Given the description of an element on the screen output the (x, y) to click on. 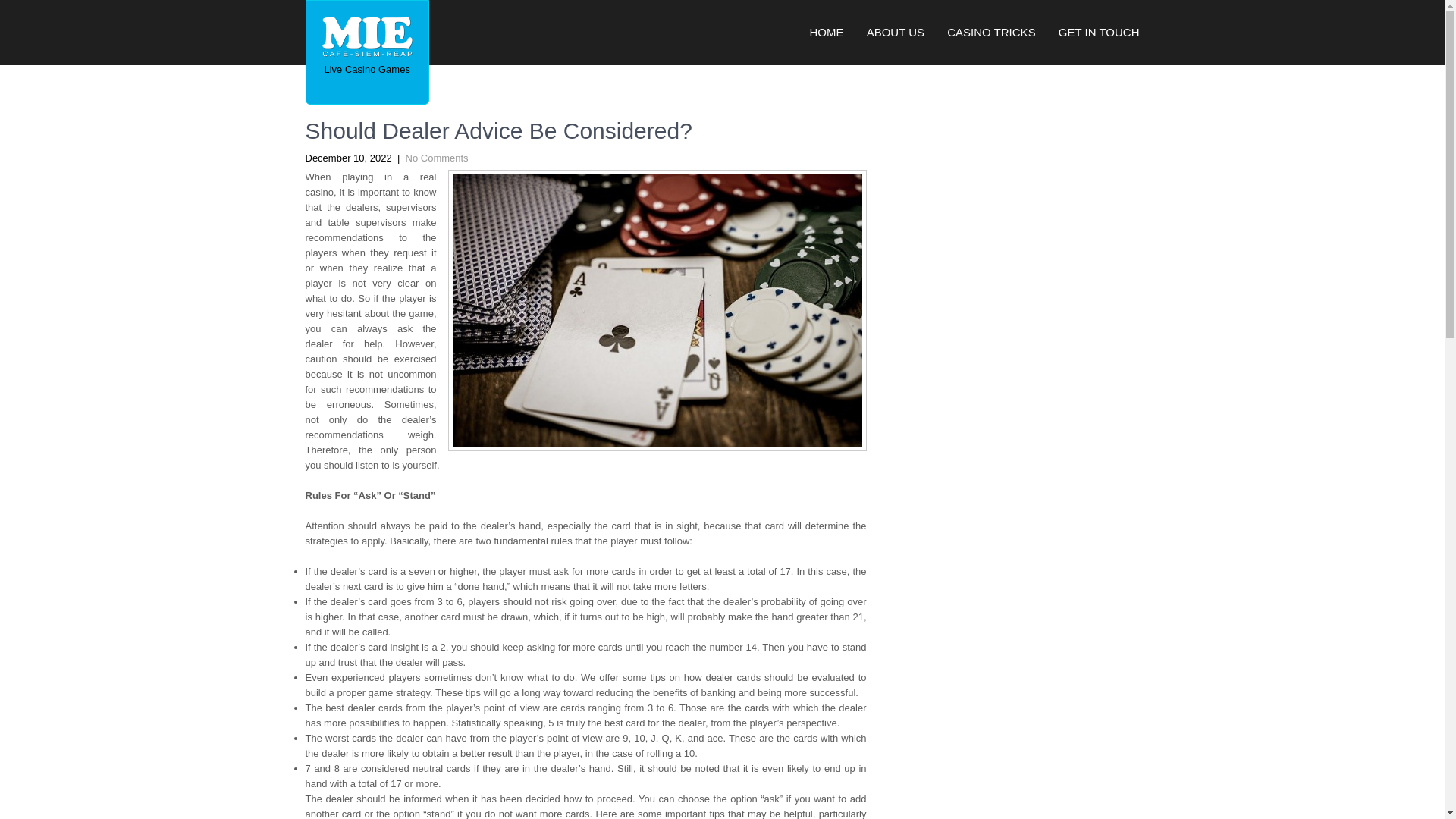
ABOUT US (895, 32)
CASINO TRICKS (991, 32)
Live Casino Games (367, 69)
GET IN TOUCH (1094, 32)
No Comments (437, 157)
